Given the description of an element on the screen output the (x, y) to click on. 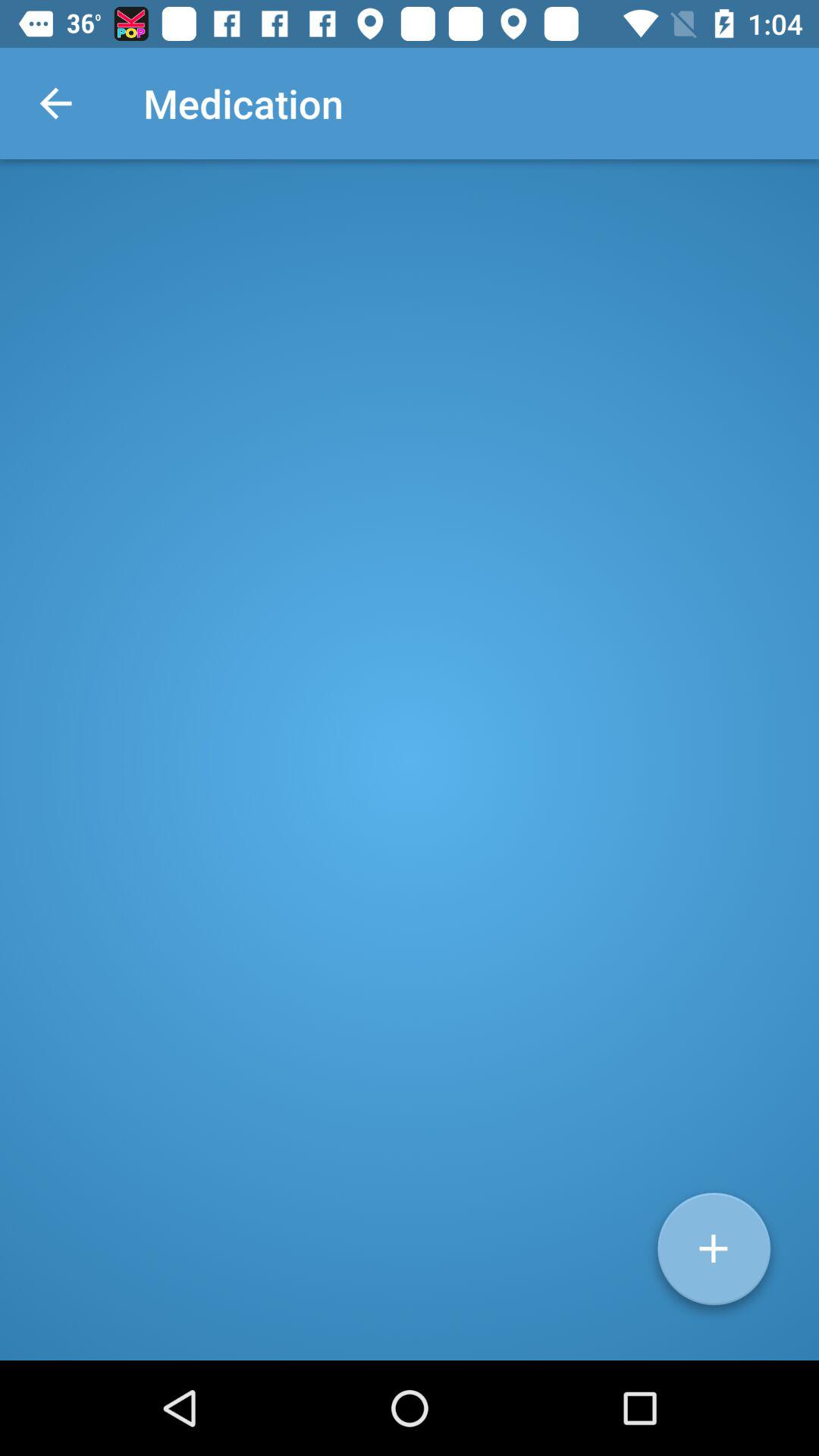
open the icon at the bottom right corner (713, 1254)
